Given the description of an element on the screen output the (x, y) to click on. 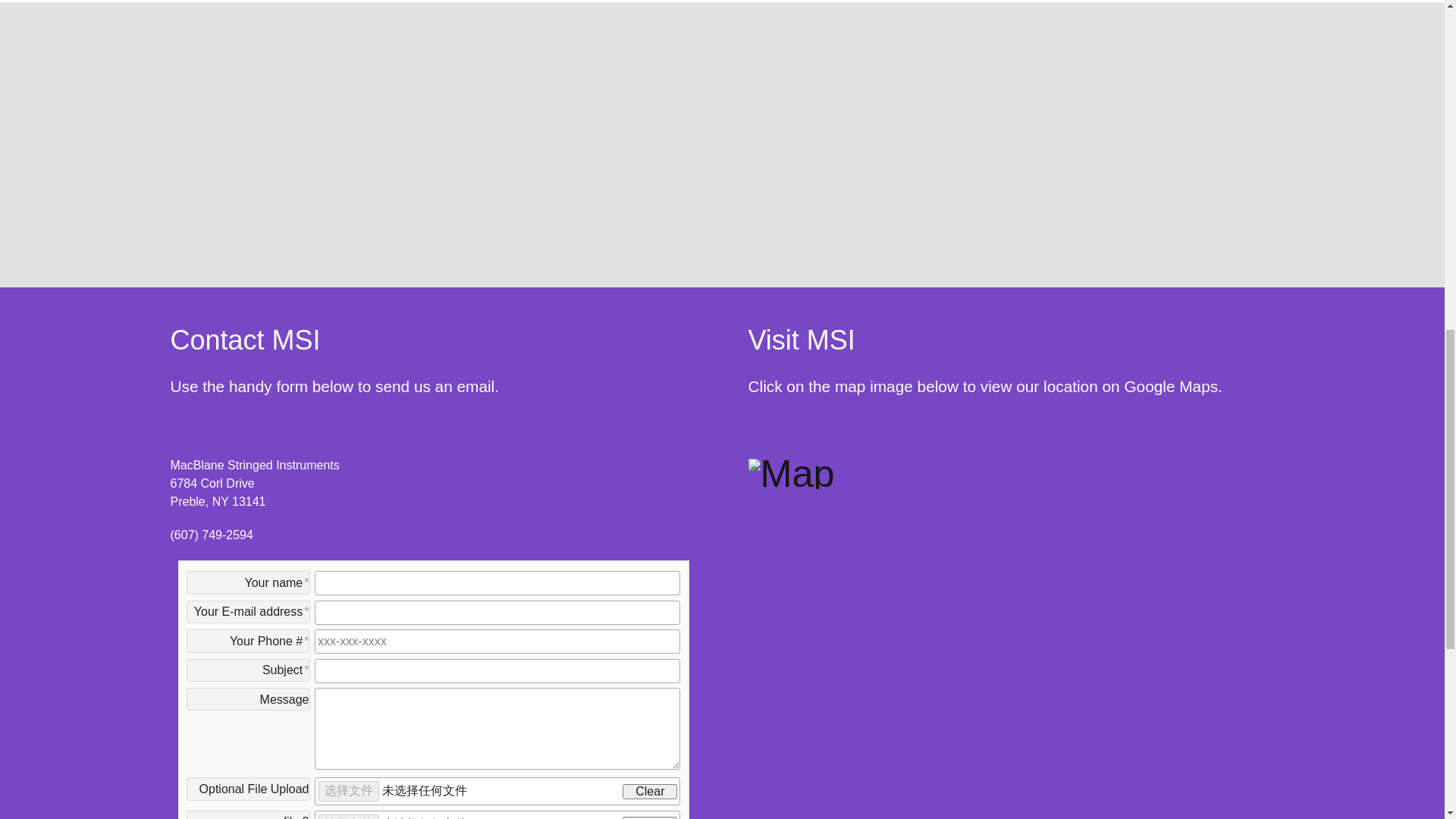
Map (791, 471)
Clear (650, 817)
Clear (650, 791)
